Given the description of an element on the screen output the (x, y) to click on. 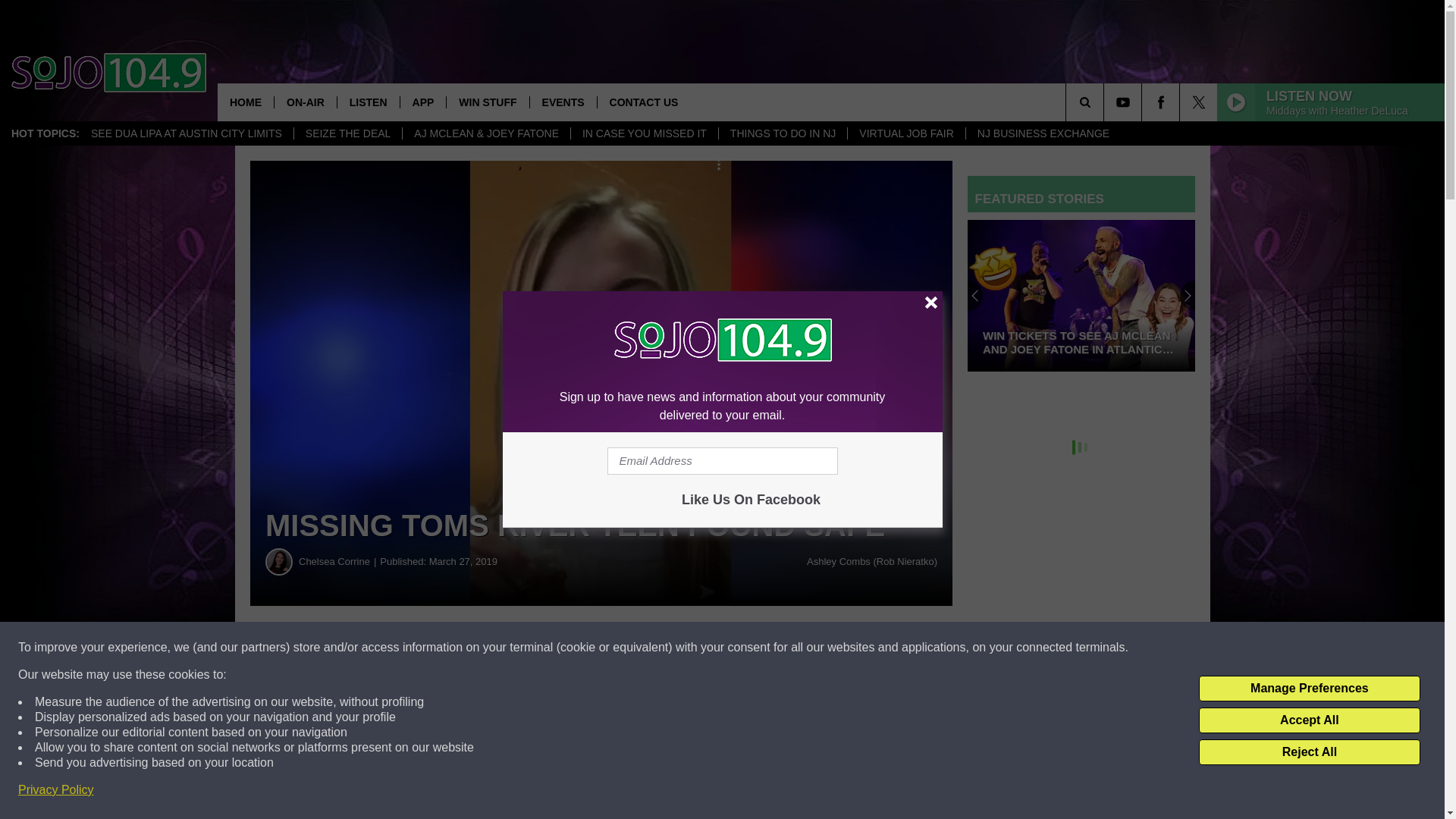
Share on Facebook (460, 647)
LISTEN (367, 102)
ON-AIR (304, 102)
SEIZE THE DEAL (348, 133)
THINGS TO DO IN NJ (782, 133)
HOME (244, 102)
WIN STUFF (486, 102)
Privacy Policy (55, 789)
Reject All (1309, 751)
SEARCH (1106, 102)
IN CASE YOU MISSED IT (643, 133)
NJ BUSINESS EXCHANGE (1043, 133)
VIRTUAL JOB FAIR (905, 133)
SEE DUA LIPA AT AUSTIN CITY LIMITS (187, 133)
Email Address (722, 461)
